Given the description of an element on the screen output the (x, y) to click on. 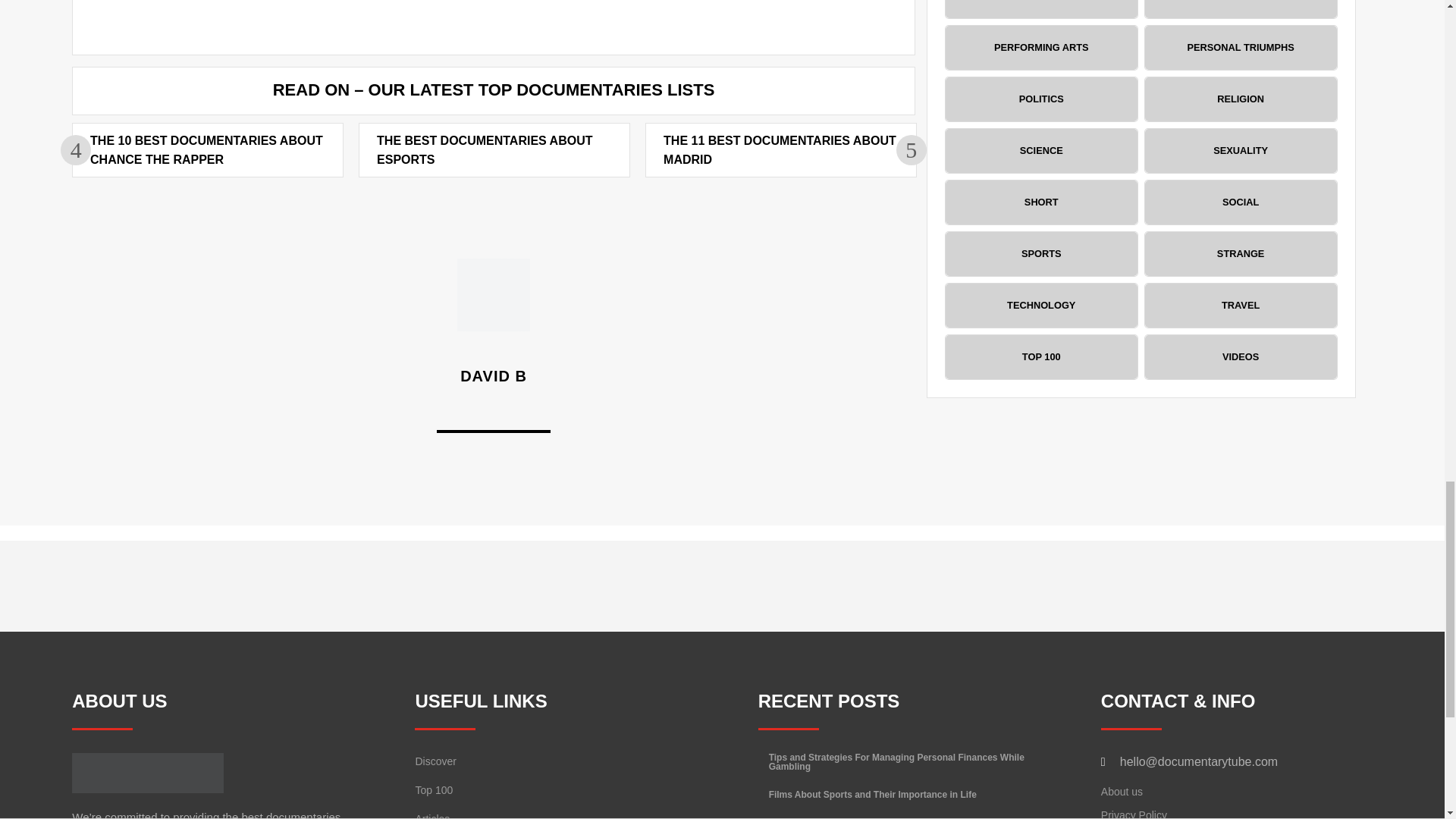
dc-removebg-preview (147, 772)
THE 10 BEST DOCUMENTARIES ABOUT CHANCE THE RAPPER (206, 150)
THE 11 BEST DOCUMENTARIES ABOUT MADRID (779, 150)
THE BEST DOCUMENTARIES ABOUT ESPORTS (484, 150)
Prev (75, 150)
Prev (911, 150)
